Given the description of an element on the screen output the (x, y) to click on. 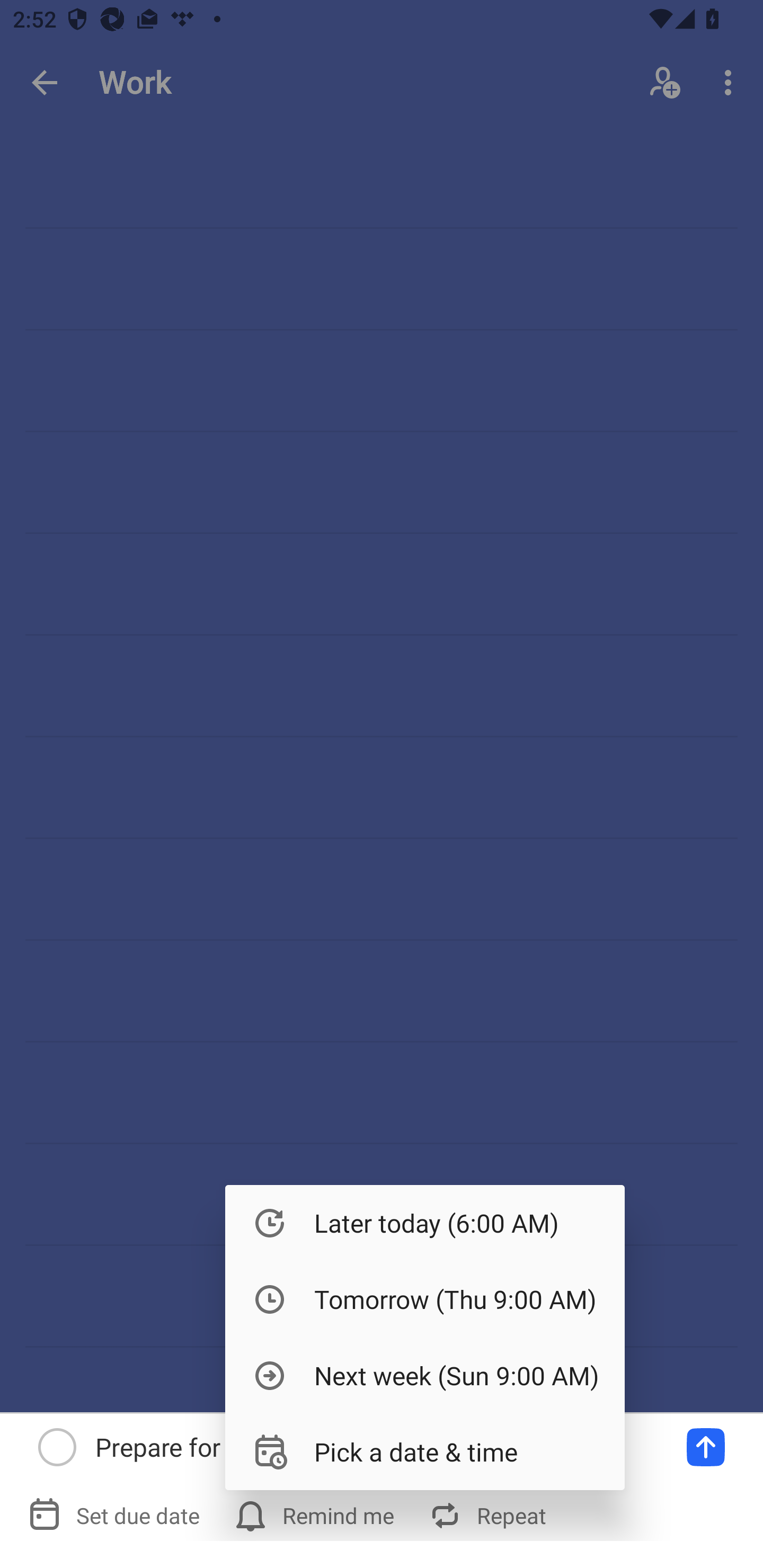
Pick a date & time4 in 4 Pick a date & time (424, 1451)
